Given the description of an element on the screen output the (x, y) to click on. 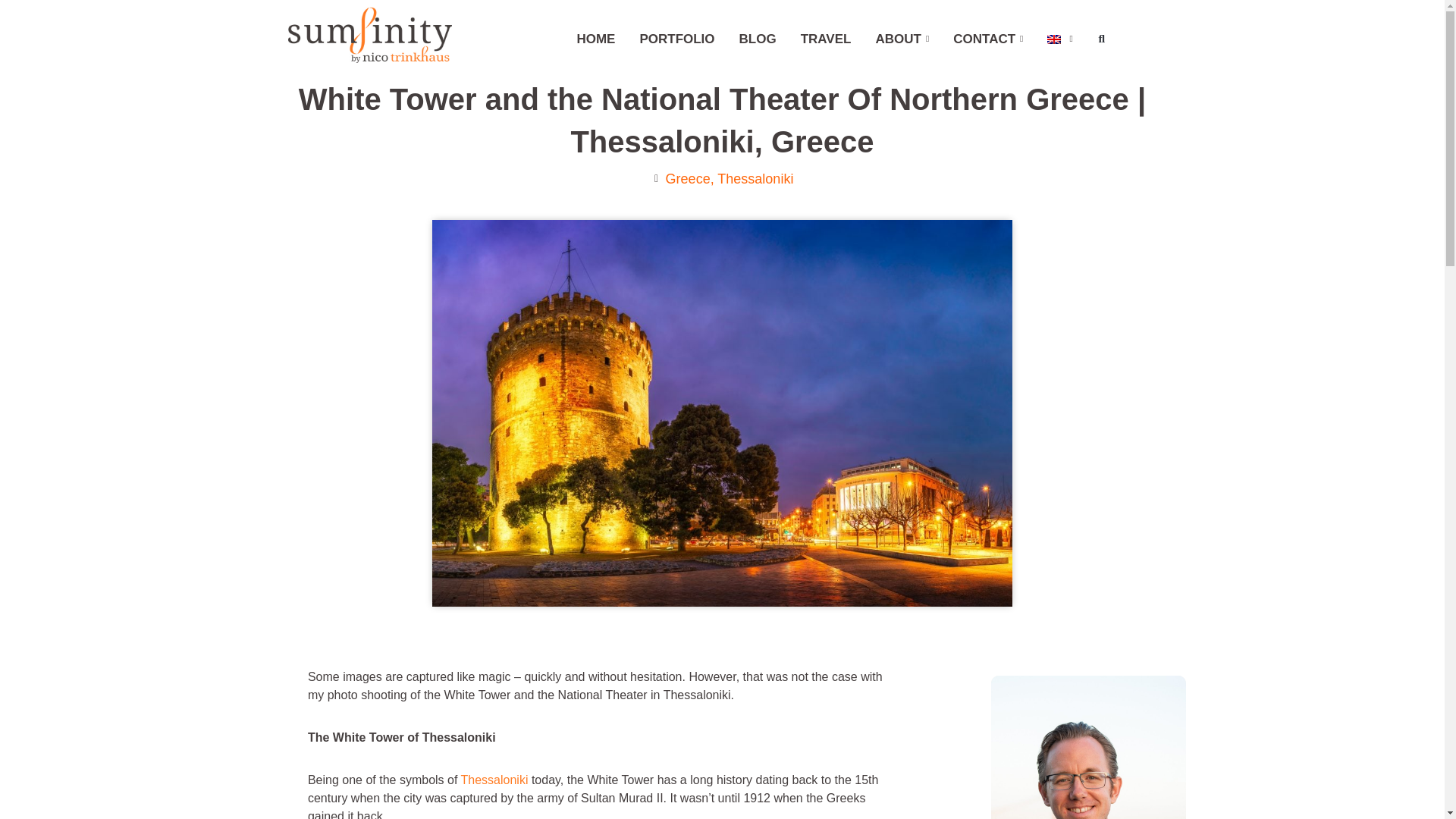
TRAVEL (826, 39)
BLOG (757, 39)
HOME (595, 39)
PORTFOLIO (676, 39)
ABOUT (901, 39)
CONTACT (987, 39)
